Given the description of an element on the screen output the (x, y) to click on. 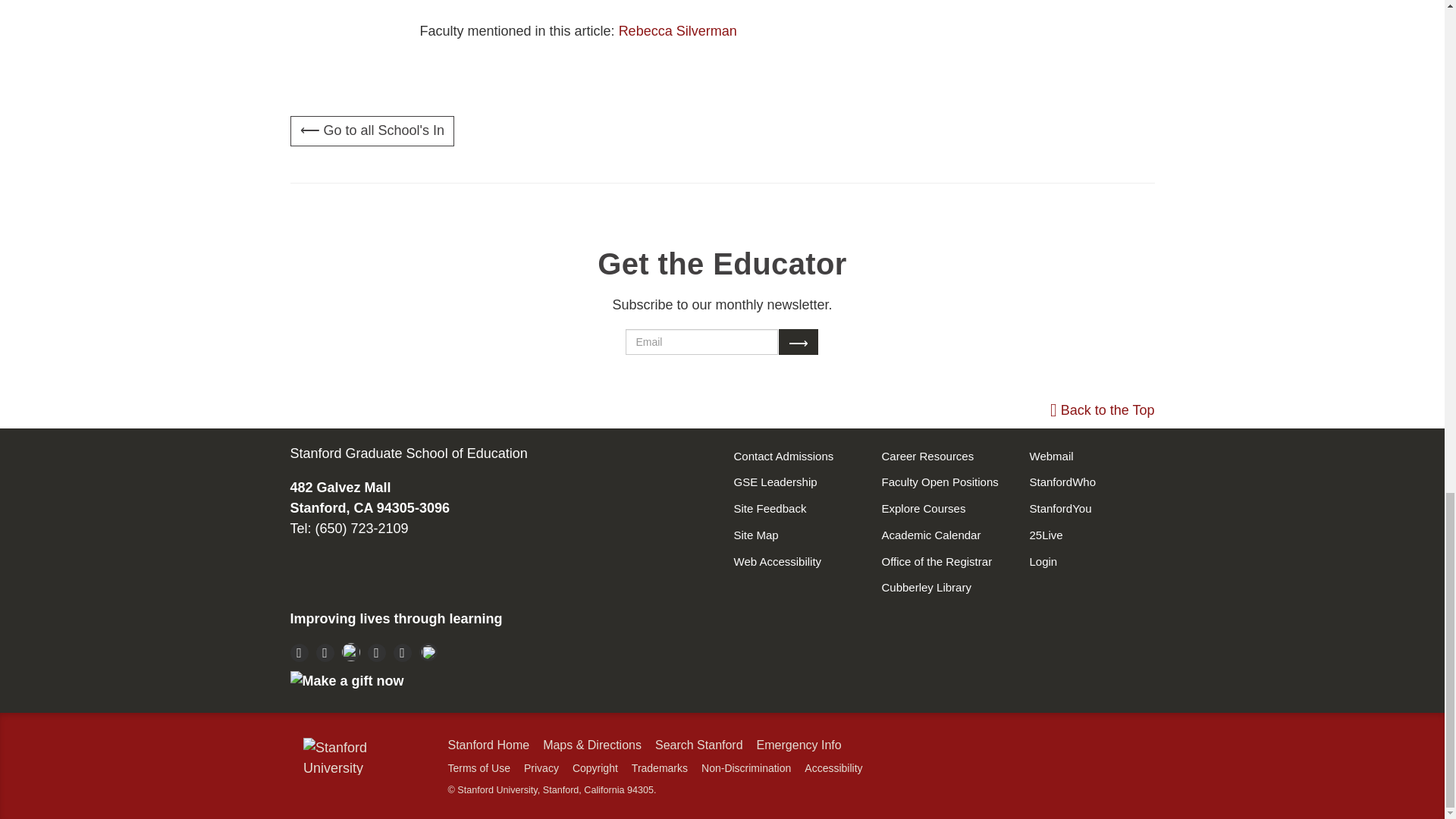
Privacy and cookie policy (541, 767)
Ownership and use of Stanford trademarks and images (659, 767)
Report web accessibility issues (833, 767)
Site Feedback (796, 509)
Report alleged copyright infringement (594, 767)
StanfordYou (1091, 509)
Non-discrimination policy (745, 767)
SUSE Webmail (1091, 535)
Back to the Top (1101, 409)
Terms of use for sites (477, 767)
